Given the description of an element on the screen output the (x, y) to click on. 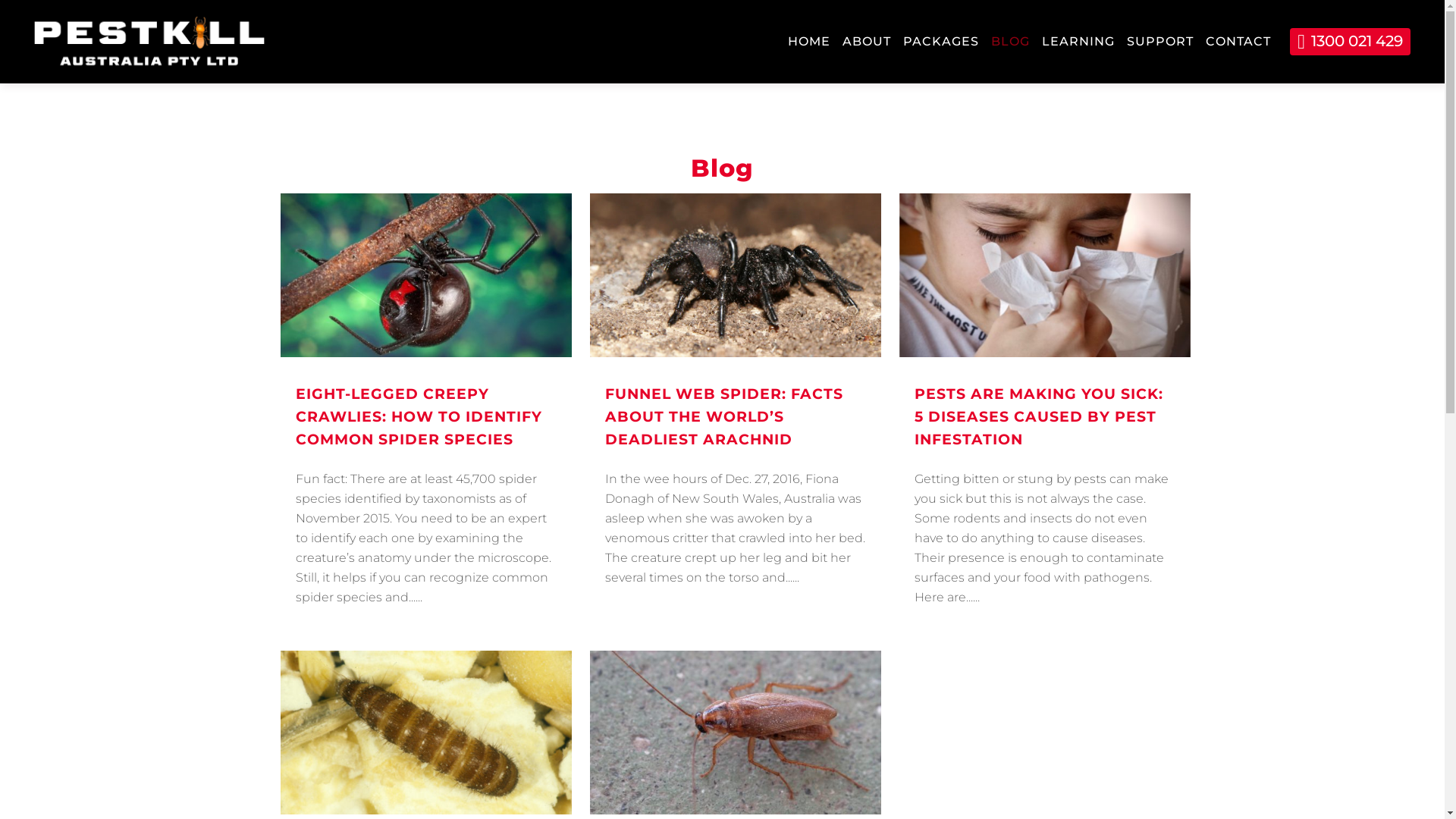
BLOG Element type: text (1010, 41)
HOME Element type: text (808, 41)
PACKAGES Element type: text (941, 41)
SUPPORT Element type: text (1159, 41)
1300 021 429 Element type: text (1349, 41)
1300 021 429 Element type: text (1349, 42)
ABOUT Element type: text (866, 41)
LEARNING Element type: text (1077, 41)
CONTACT Element type: text (1238, 41)
